Given the description of an element on the screen output the (x, y) to click on. 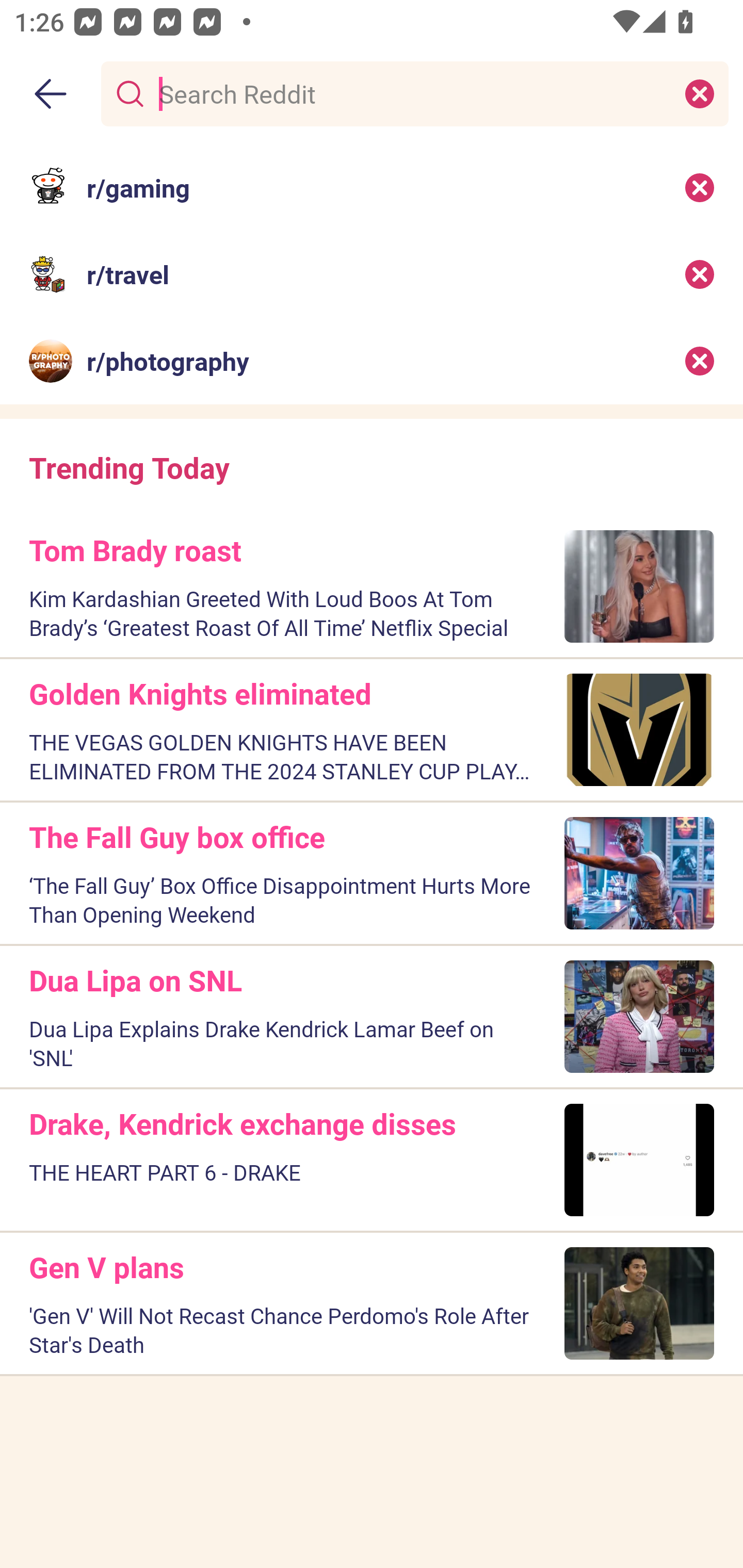
Back (50, 93)
Search Reddit (410, 93)
Clear search (699, 93)
r/gaming Recent search: r/gaming Remove (371, 187)
Remove (699, 187)
r/travel Recent search: r/travel Remove (371, 274)
Remove (699, 274)
r/photography Recent search: r/photography Remove (371, 361)
Remove (699, 361)
